Given the description of an element on the screen output the (x, y) to click on. 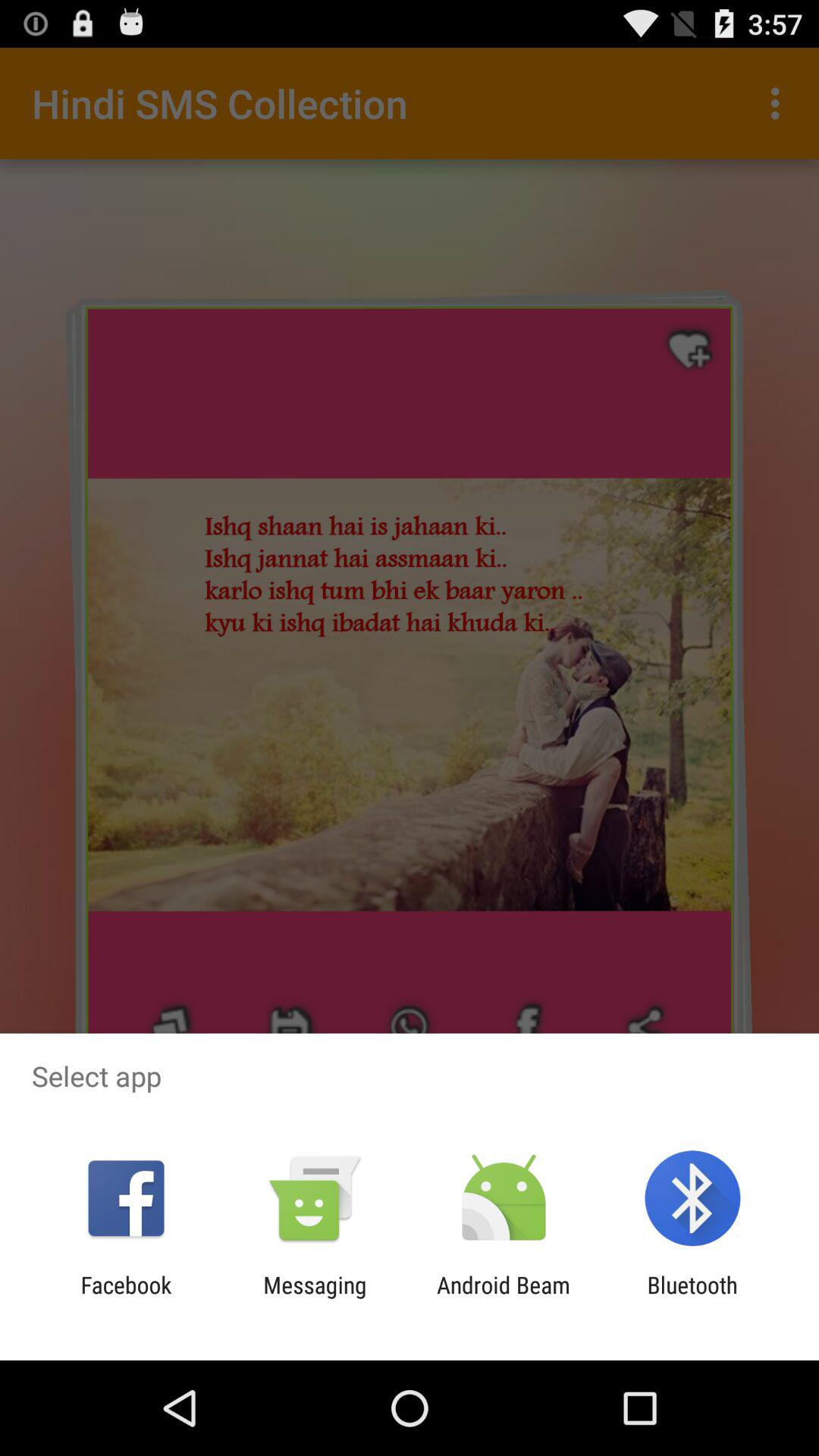
open icon next to bluetooth (503, 1298)
